Given the description of an element on the screen output the (x, y) to click on. 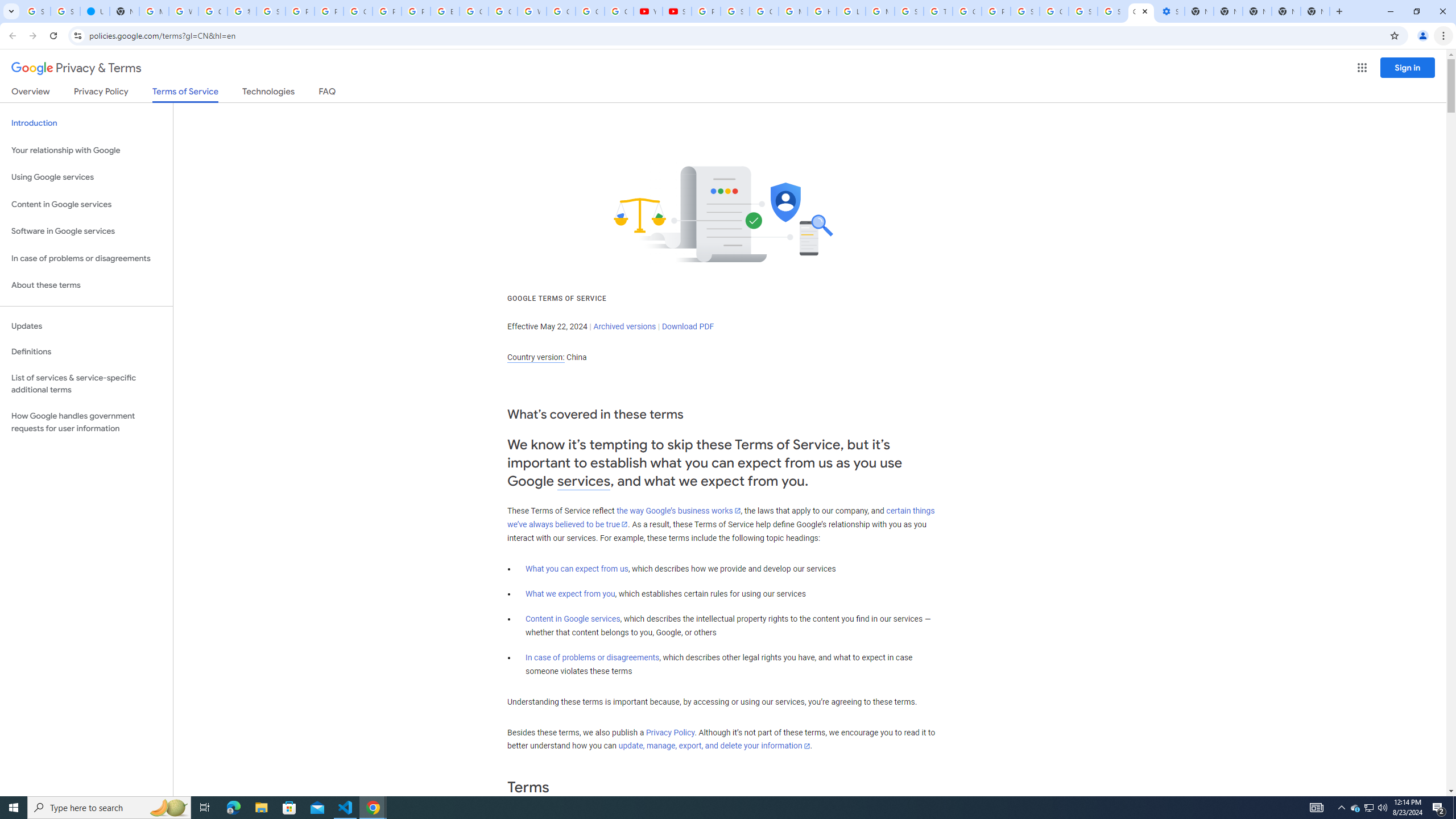
About these terms (86, 284)
YouTube (648, 11)
Settings - Performance (1169, 11)
What you can expect from us (576, 568)
update, manage, export, and delete your information (714, 746)
